Given the description of an element on the screen output the (x, y) to click on. 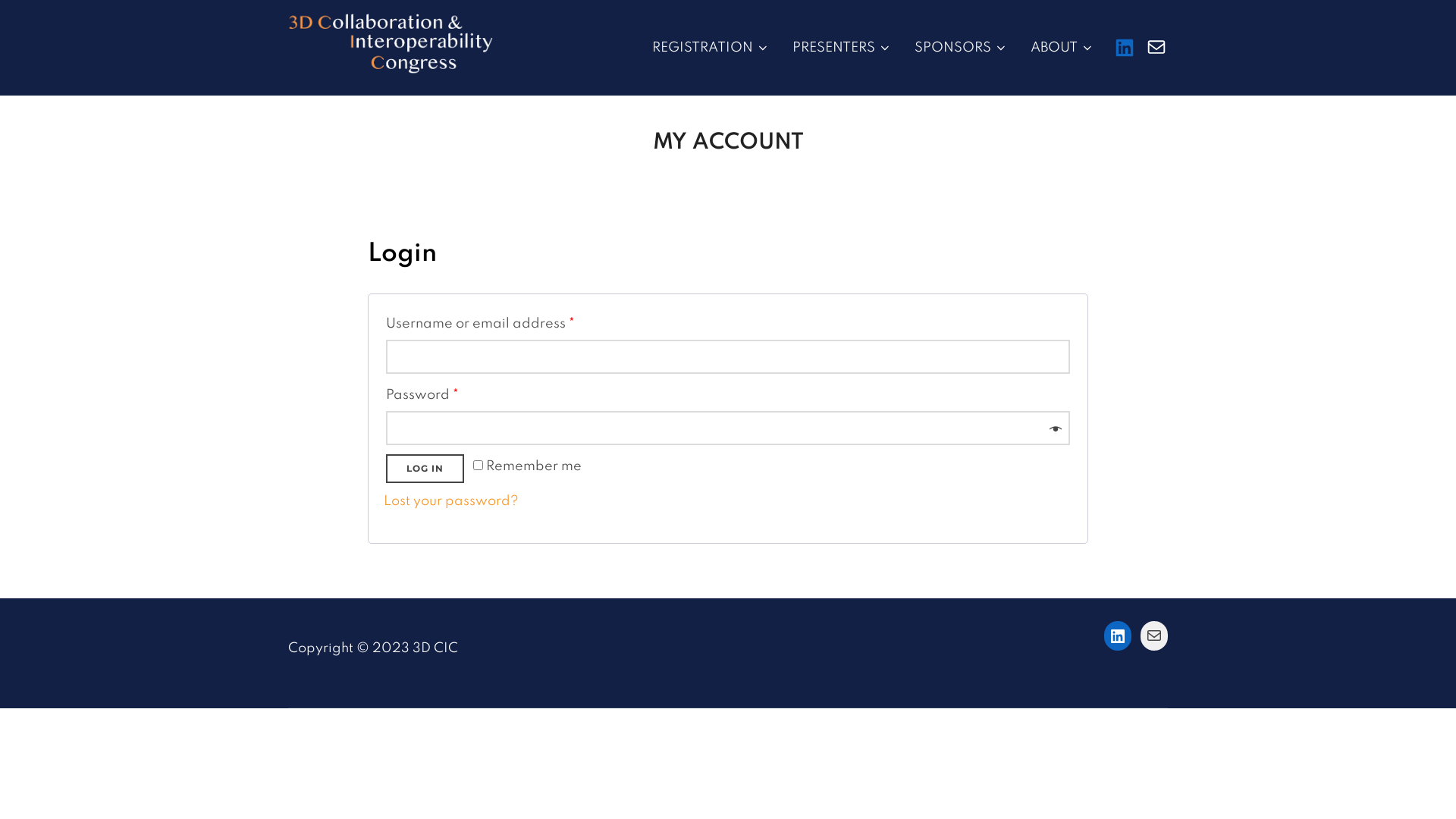
SPONSORS Element type: text (960, 47)
REGISTRATION Element type: text (710, 47)
LOG IN Element type: text (424, 468)
ABOUT Element type: text (1062, 47)
Mail Element type: text (1153, 635)
Lost your password? Element type: text (450, 501)
LinkedIn Element type: text (1124, 47)
LinkedIn Element type: text (1117, 635)
PRESENTERS Element type: text (841, 47)
Mail Element type: text (1156, 46)
